Given the description of an element on the screen output the (x, y) to click on. 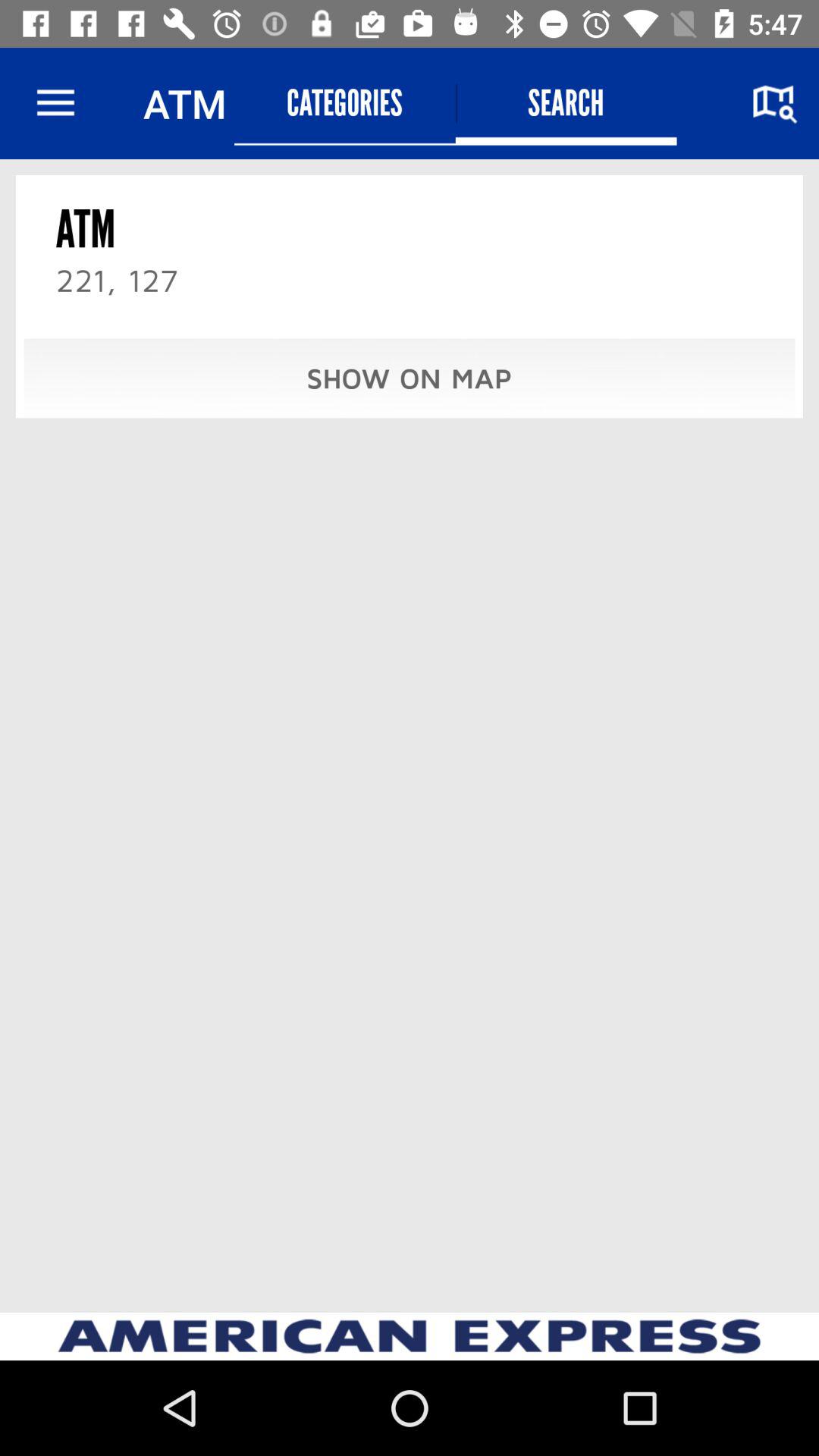
click icon next to categories (565, 103)
